Given the description of an element on the screen output the (x, y) to click on. 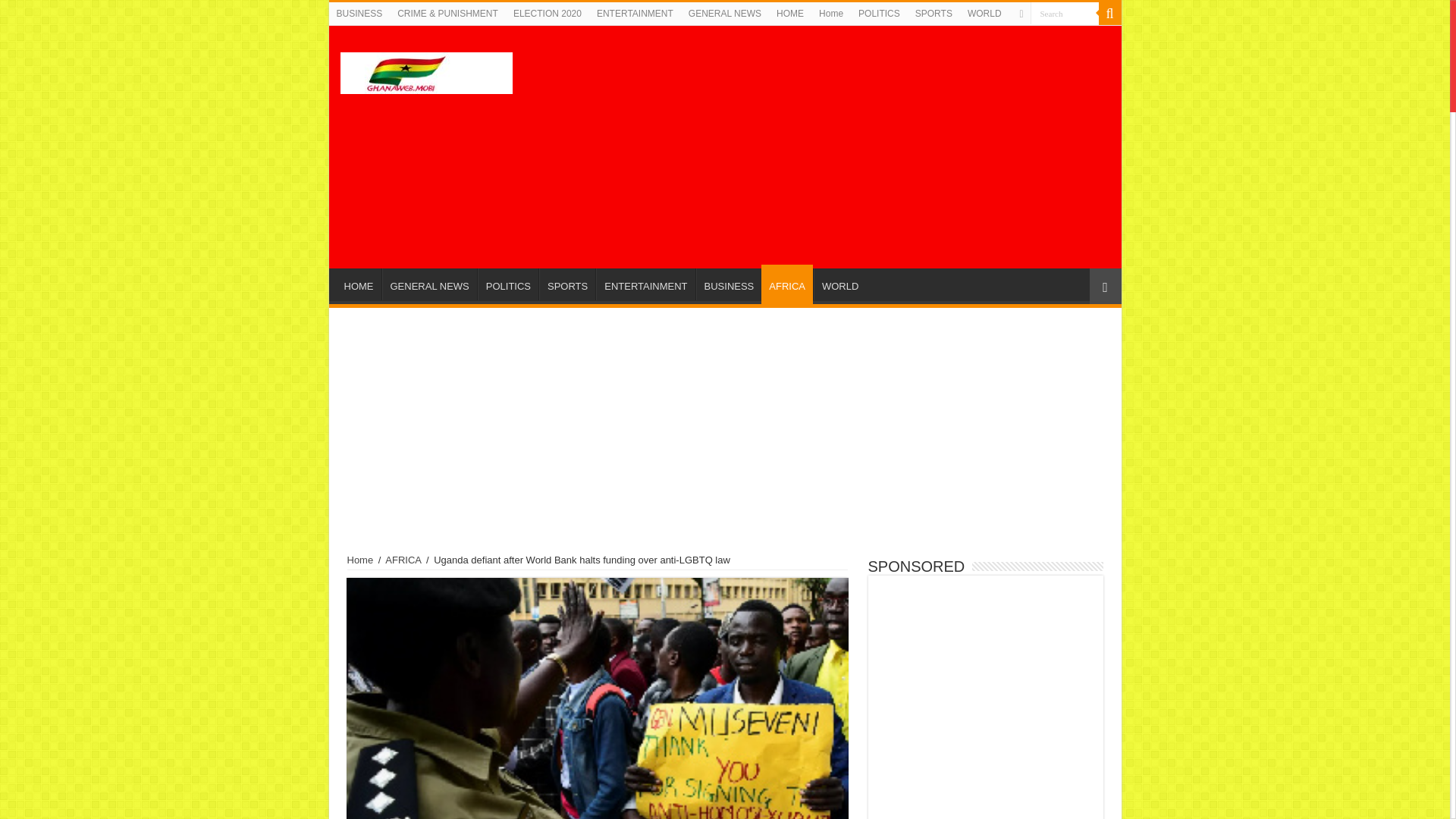
AFRICA (786, 283)
GENERAL NEWS (429, 284)
HOME (358, 284)
Home (360, 559)
HOME (789, 13)
AFRICA (402, 559)
SPORTS (933, 13)
ENTERTAINMENT (644, 284)
POLITICS (507, 284)
SPORTS (566, 284)
WORLD (839, 284)
POLITICS (878, 13)
BUSINESS (728, 284)
Search (1063, 13)
Search (1063, 13)
